Given the description of an element on the screen output the (x, y) to click on. 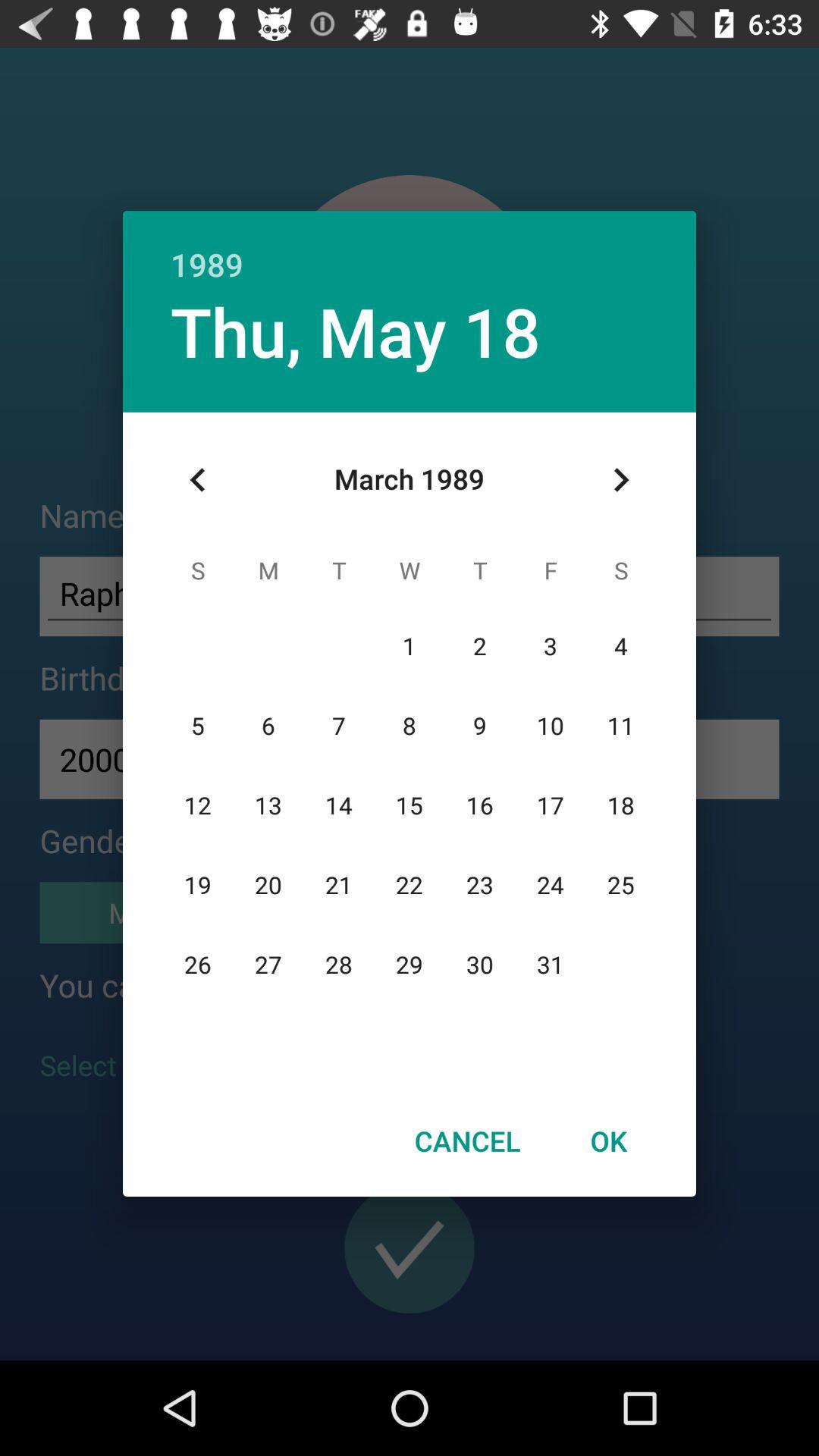
jump until the thu, may 18 (355, 331)
